Given the description of an element on the screen output the (x, y) to click on. 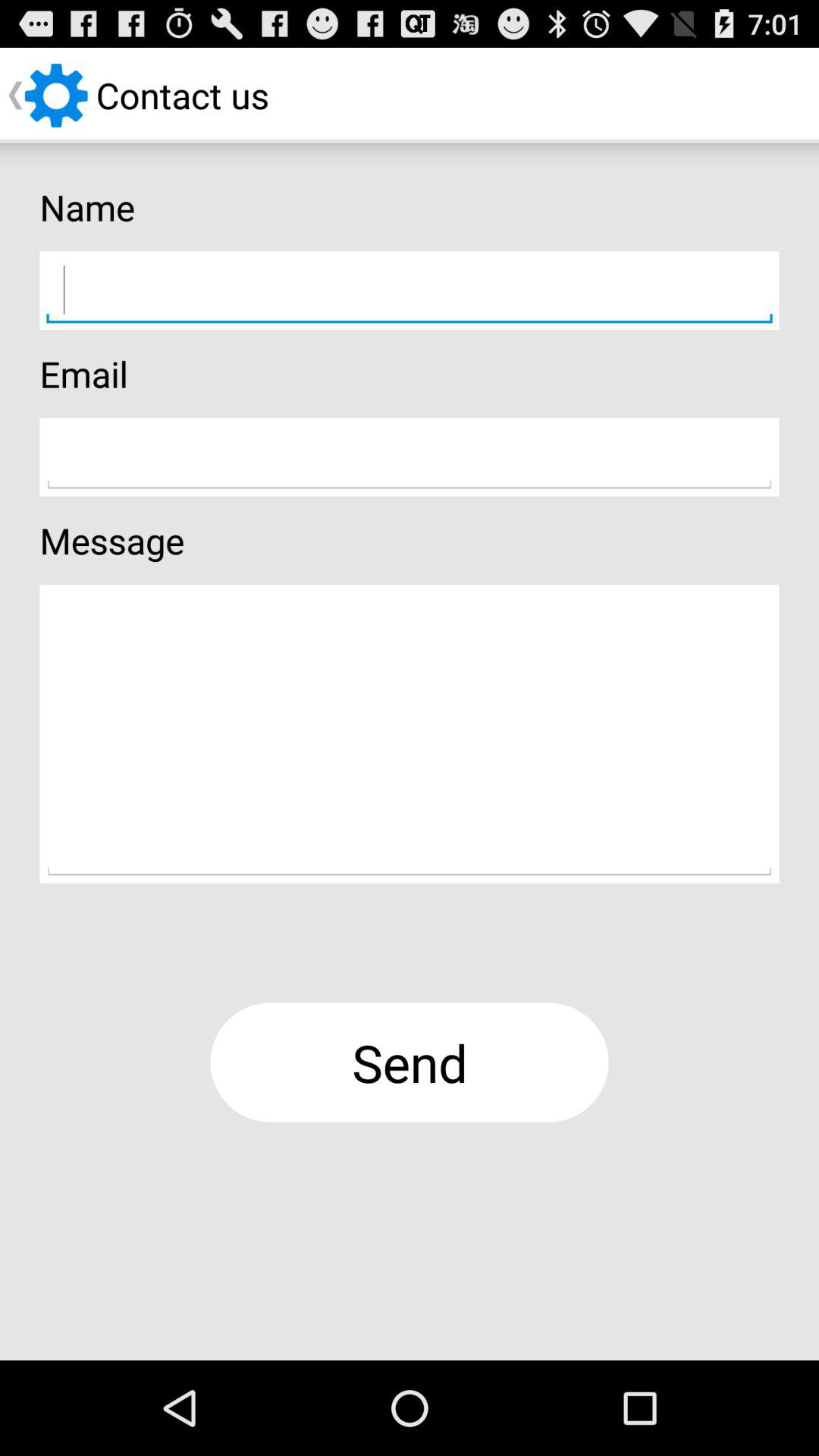
enter name (409, 290)
